Given the description of an element on the screen output the (x, y) to click on. 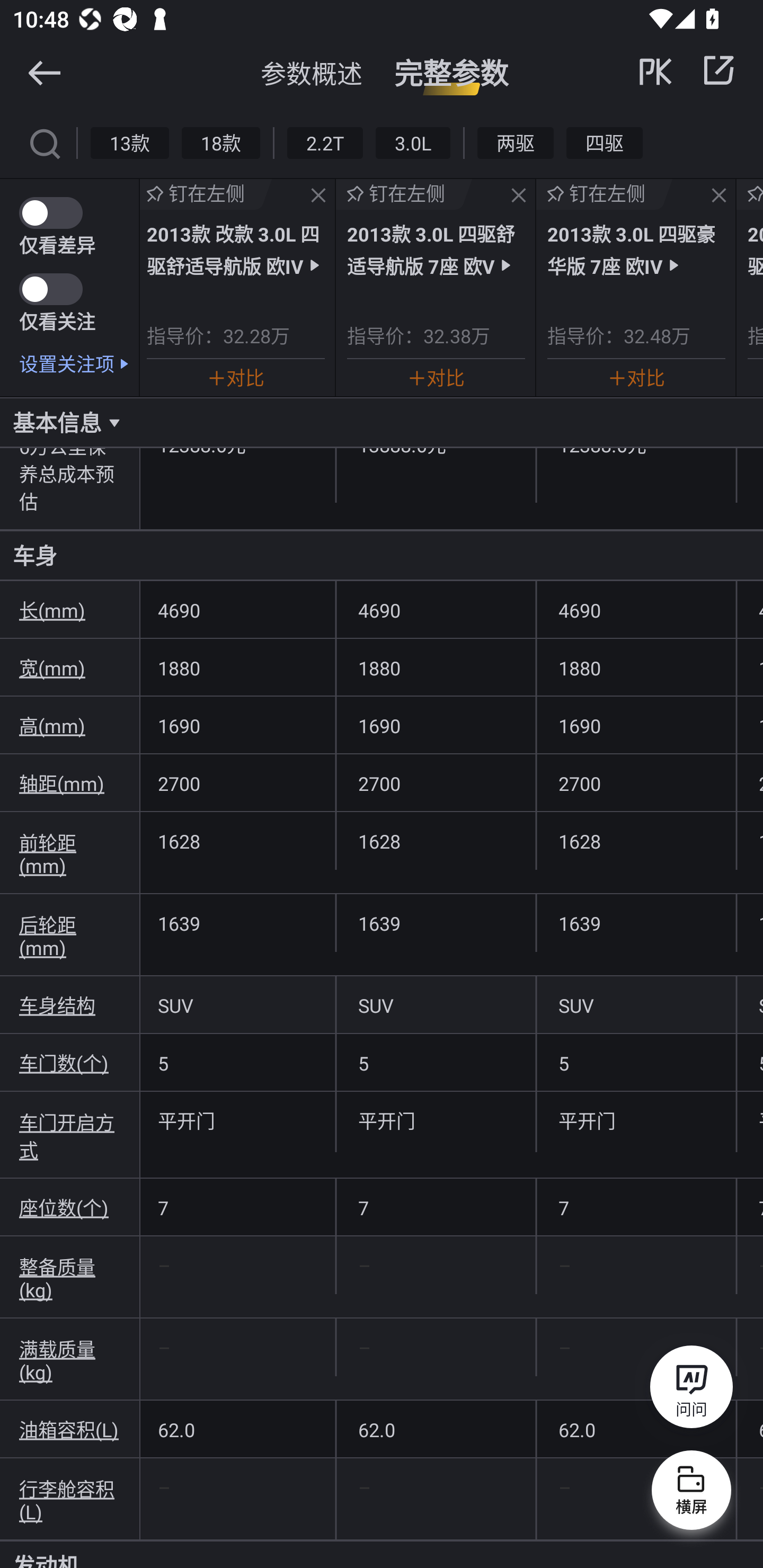
  (688, 70)
参数概述 (311, 72)
 (718, 70)
 (44, 71)
 (44, 142)
13款 (129, 142)
18款 (220, 142)
2.2T (324, 142)
3.0L (412, 142)
两驱 (515, 142)
四驱 (604, 142)
 钉在左侧 (205, 194)
 (317, 195)
 钉在左侧 (403, 194)
 (518, 195)
 钉在左侧 (604, 194)
 (718, 195)
2013款 改款 3.0L 四驱舒适导航版 欧IV  (235, 249)
2013款 3.0L 四驱舒适导航版 7座 欧V  (435, 249)
2013款 3.0L 四驱豪华版 7座 欧IV  (636, 249)
设置关注项  (79, 363)
对比 (235, 377)
对比 (435, 377)
对比 (636, 377)
基本信息  (381, 422)
长(mm) (69, 609)
4690 (237, 609)
4690 (435, 609)
4690 (636, 609)
宽(mm) (69, 667)
1880 (237, 667)
1880 (435, 667)
1880 (636, 667)
高(mm) (69, 725)
1690 (237, 725)
1690 (435, 725)
1690 (636, 725)
轴距(mm) (69, 783)
2700 (237, 783)
2700 (435, 783)
2700 (636, 783)
前轮距(mm) (69, 852)
1628 (237, 841)
1628 (435, 841)
1628 (636, 841)
后轮距(mm) (69, 934)
1639 (237, 922)
1639 (435, 922)
1639 (636, 922)
车身结构 (69, 1004)
SUV (237, 1004)
SUV (435, 1004)
SUV (636, 1004)
车门数(个) (69, 1062)
5 (237, 1062)
5 (435, 1062)
5 (636, 1062)
车门开启方式 (69, 1135)
平开门 (237, 1120)
平开门 (435, 1120)
平开门 (636, 1120)
座位数(个) (69, 1208)
7 (237, 1208)
7 (435, 1208)
7 (636, 1208)
整备质量(kg) (69, 1277)
满载质量(kg) (69, 1359)
 问问 (691, 1389)
油箱容积(L) (69, 1429)
62.0 (237, 1429)
62.0 (435, 1429)
62.0 (636, 1429)
行李舱容积(L) (69, 1498)
